Given the description of an element on the screen output the (x, y) to click on. 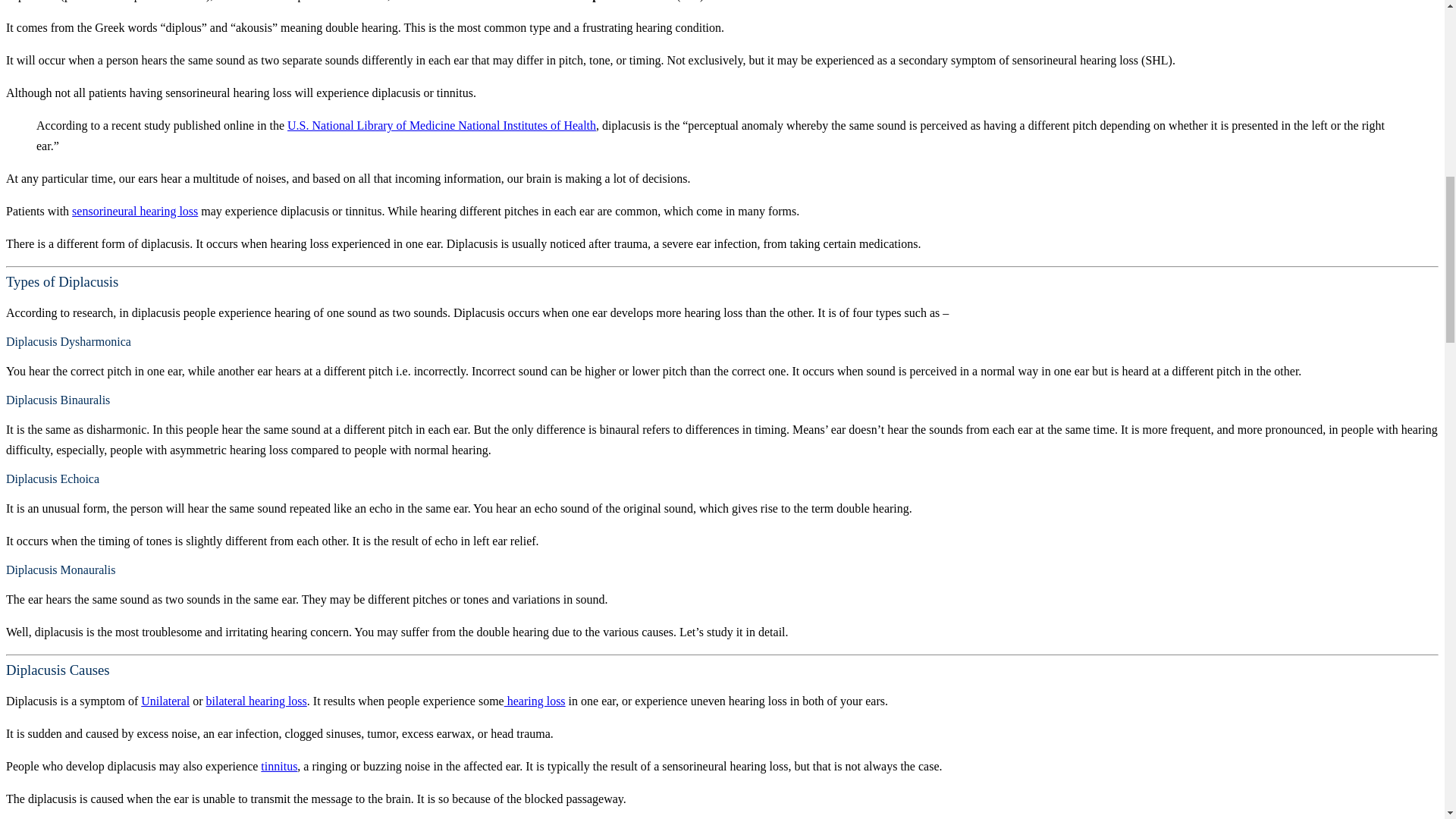
Unilateral (165, 700)
sensorineural hearing loss (134, 210)
